Given the description of an element on the screen output the (x, y) to click on. 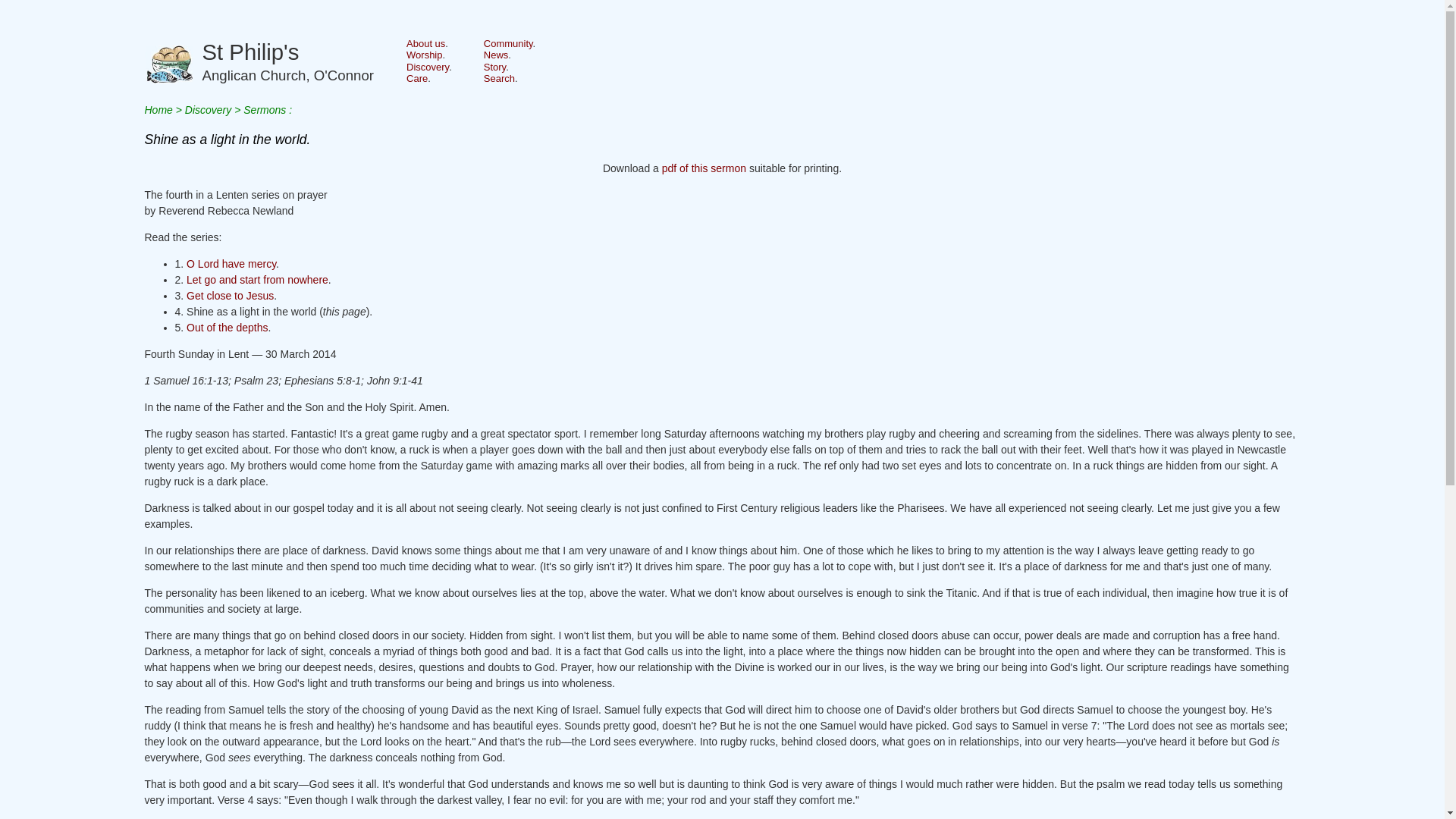
Get close to Jesus (229, 295)
Search (499, 78)
Worship (288, 65)
News (424, 54)
Story (495, 54)
pdf of this sermon (494, 66)
Let go and start from nowhere (703, 168)
Care (257, 279)
Discovery (417, 78)
O Lord have mercy (427, 66)
Out of the depths (231, 263)
Sermons (226, 327)
Home (264, 110)
Discovery (157, 110)
